Given the description of an element on the screen output the (x, y) to click on. 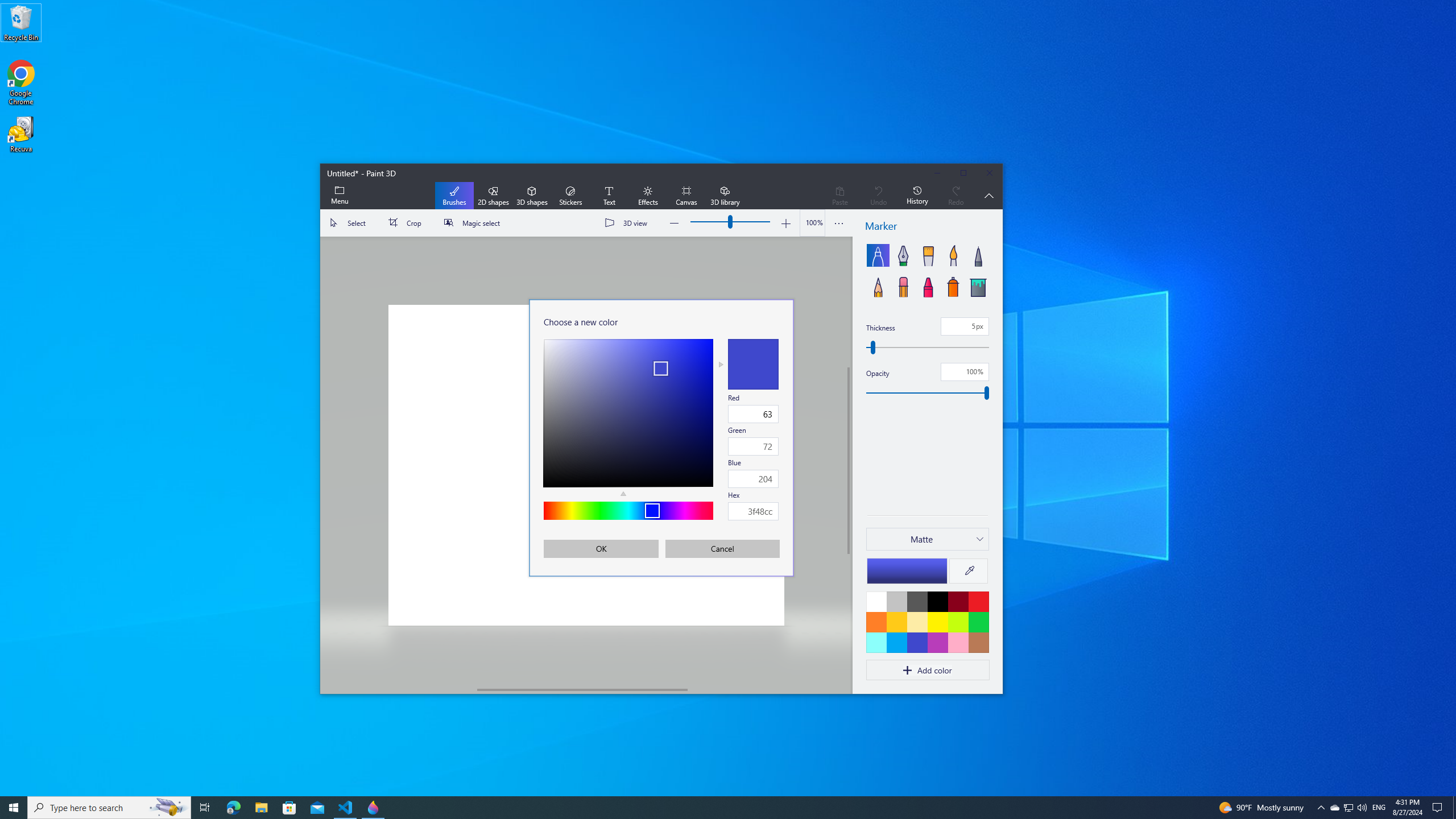
Google Chrome (21, 82)
Recycle Bin (21, 22)
Action Center, No new notifications (1347, 807)
Start (1439, 807)
File Explorer (13, 807)
Type here to search (261, 807)
User Promoted Notification Area (108, 807)
